Given the description of an element on the screen output the (x, y) to click on. 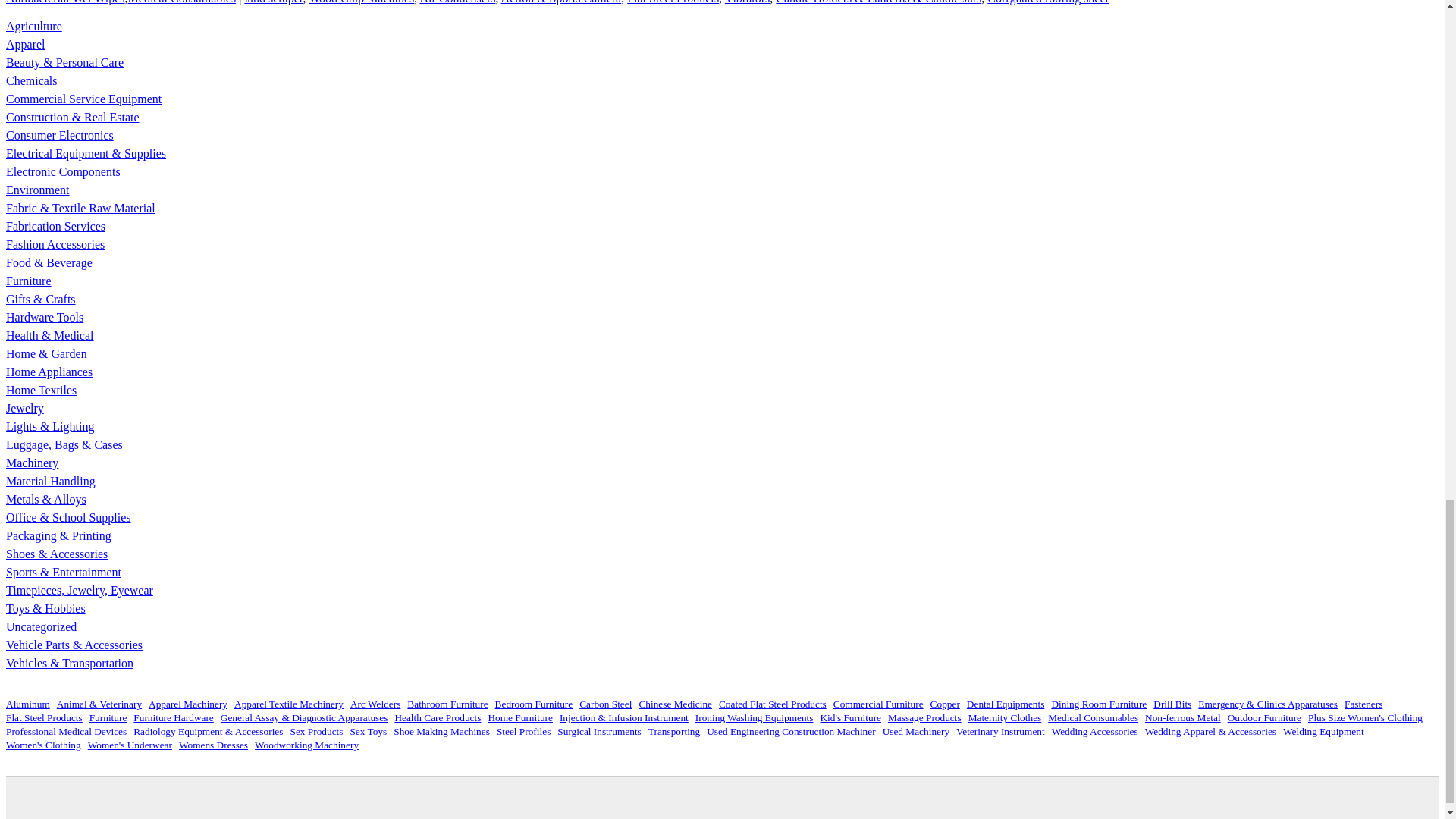
Antibacterial Wet Wipes (65, 2)
Chemicals (31, 80)
Medical Consumables (181, 2)
Wood Chip Machines (360, 2)
land scraper (273, 2)
Apparel (25, 43)
Air Condensers (457, 2)
Electronic Components (62, 171)
Corrguated roofing sheet (1047, 2)
Vibrators (747, 2)
Agriculture (33, 25)
Flat Steel Products (673, 2)
Commercial Service Equipment (83, 98)
Consumer Electronics (59, 134)
